Given the description of an element on the screen output the (x, y) to click on. 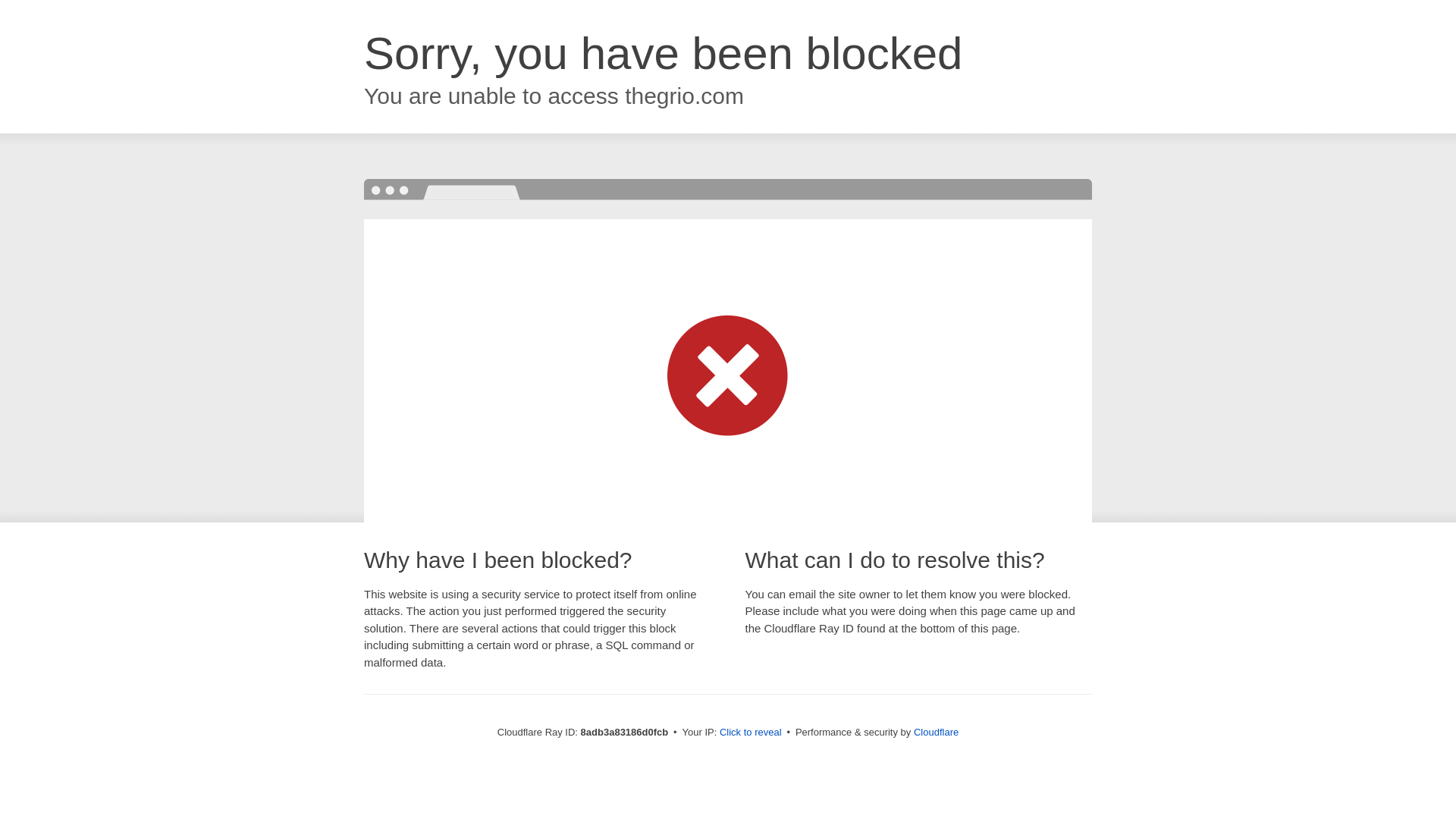
Click to reveal (750, 732)
Cloudflare (936, 731)
